Given the description of an element on the screen output the (x, y) to click on. 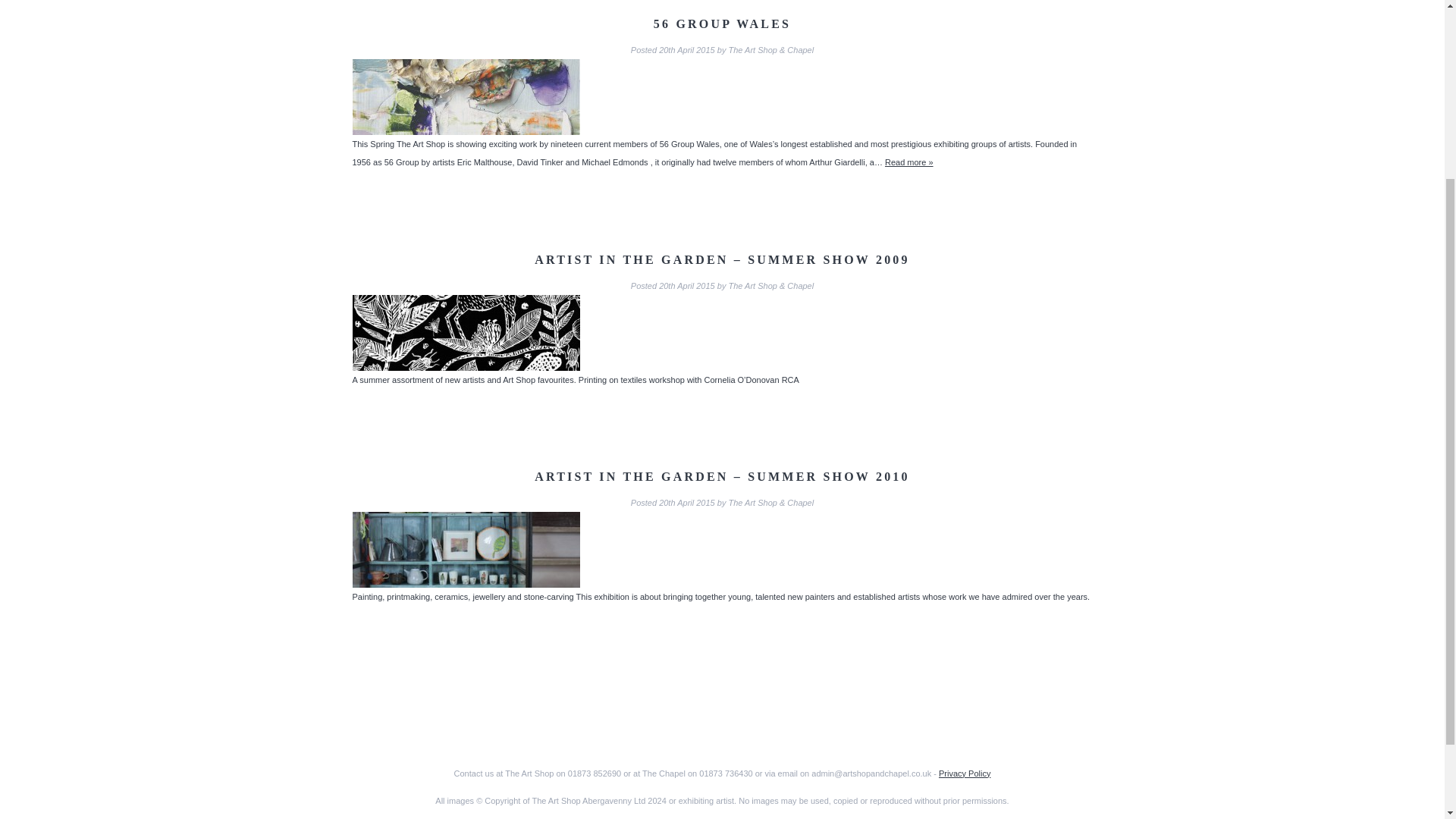
56 GROUP WALES (721, 23)
Privacy Policy (964, 773)
Read 56 Group Wales (909, 162)
56 Group Wales (721, 23)
